Given the description of an element on the screen output the (x, y) to click on. 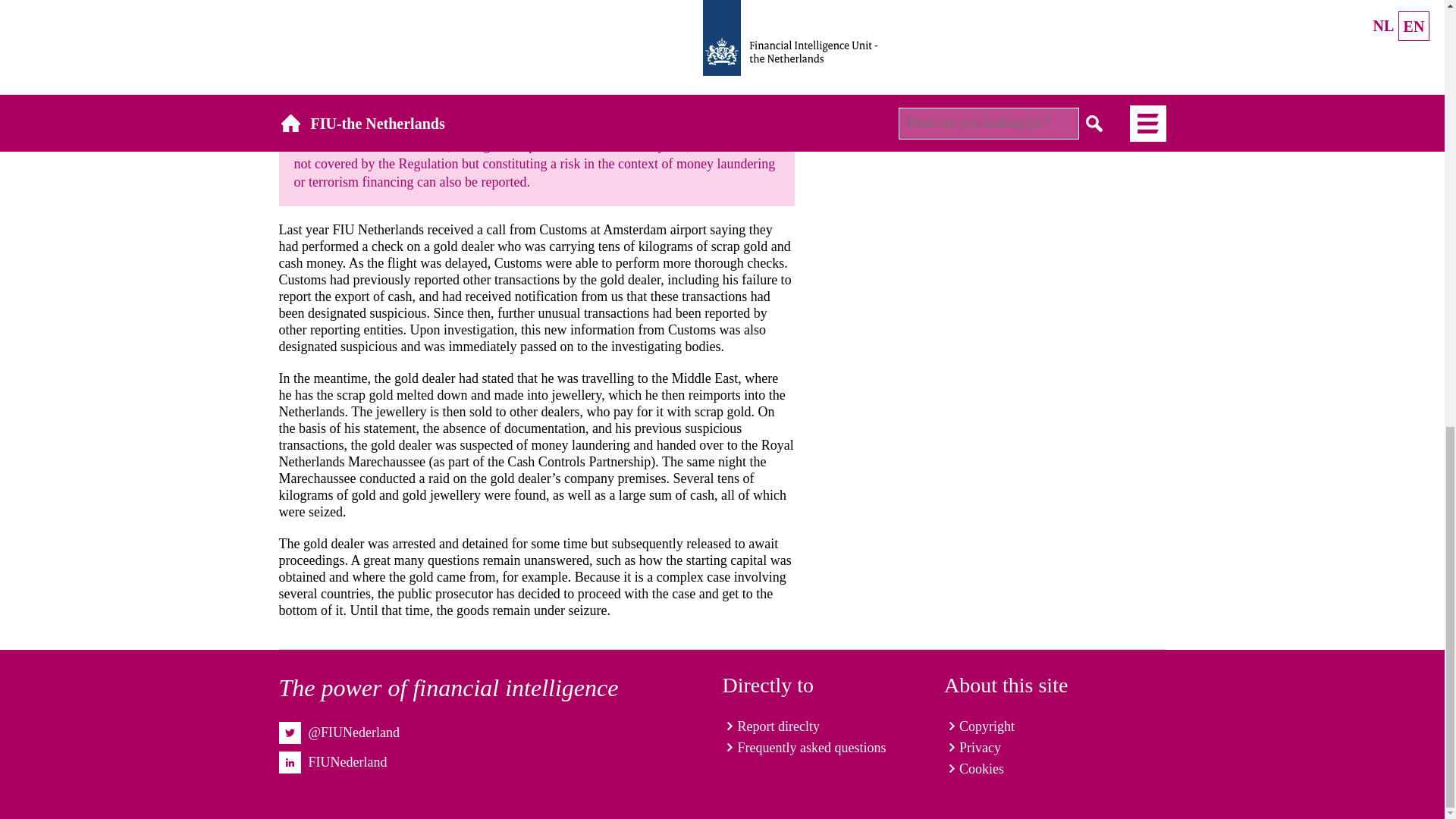
Report direclty (770, 726)
The power of financial intelligence (448, 687)
Cookies (973, 769)
FIUNederland (347, 761)
Frequently asked questions (803, 747)
Frequently asked questions (803, 747)
The power of financial intelligence (448, 687)
Privacy (972, 747)
Copyright (978, 726)
